Given the description of an element on the screen output the (x, y) to click on. 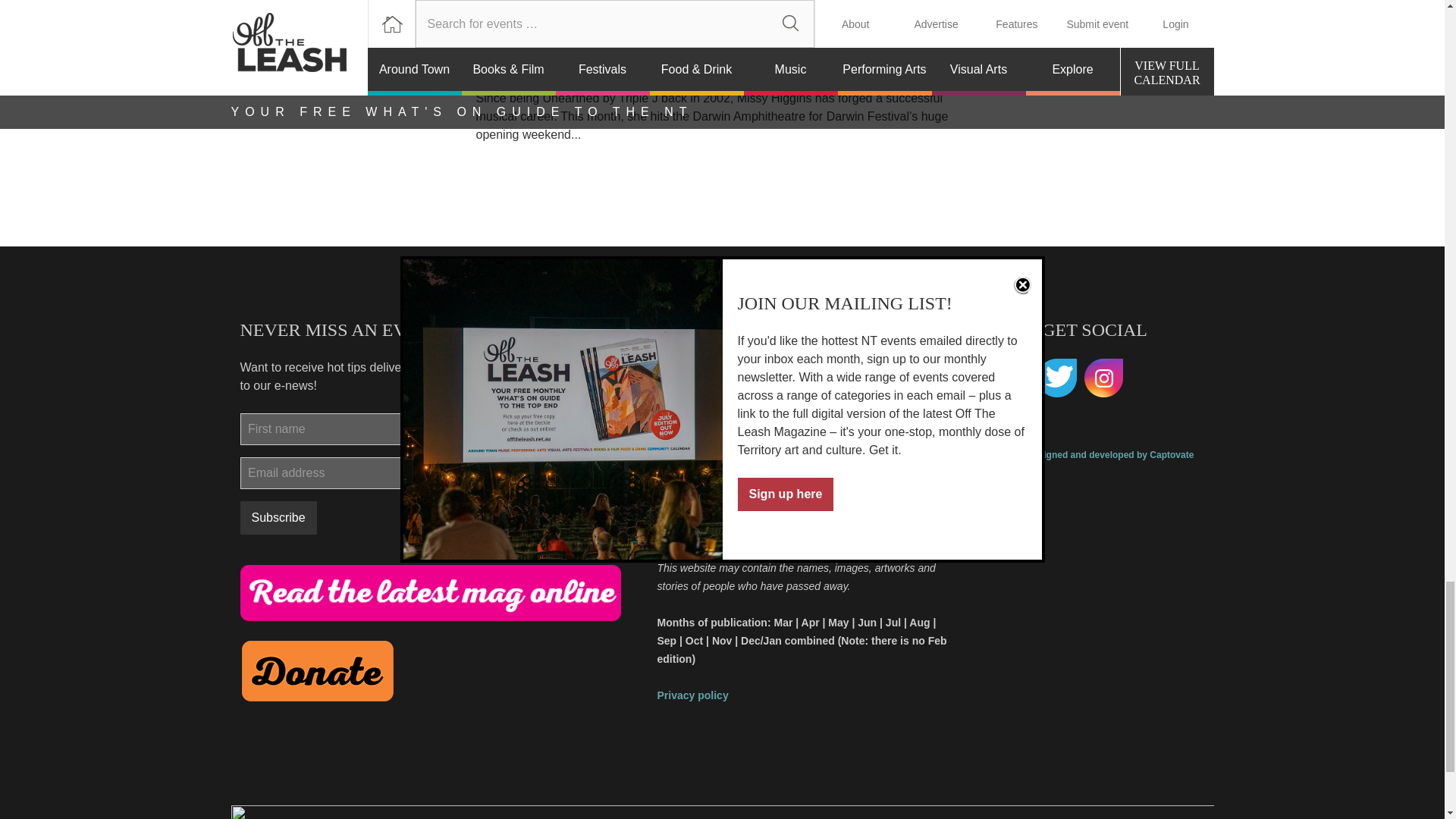
Subscribe (277, 517)
Subscribe (277, 517)
Privacy policy (692, 694)
Like us on Facebook (1009, 378)
MISSY Higgins (540, 77)
PayPal - The safer, easier way to pay online! (317, 670)
Follow us on Twitter (1056, 378)
